Given the description of an element on the screen output the (x, y) to click on. 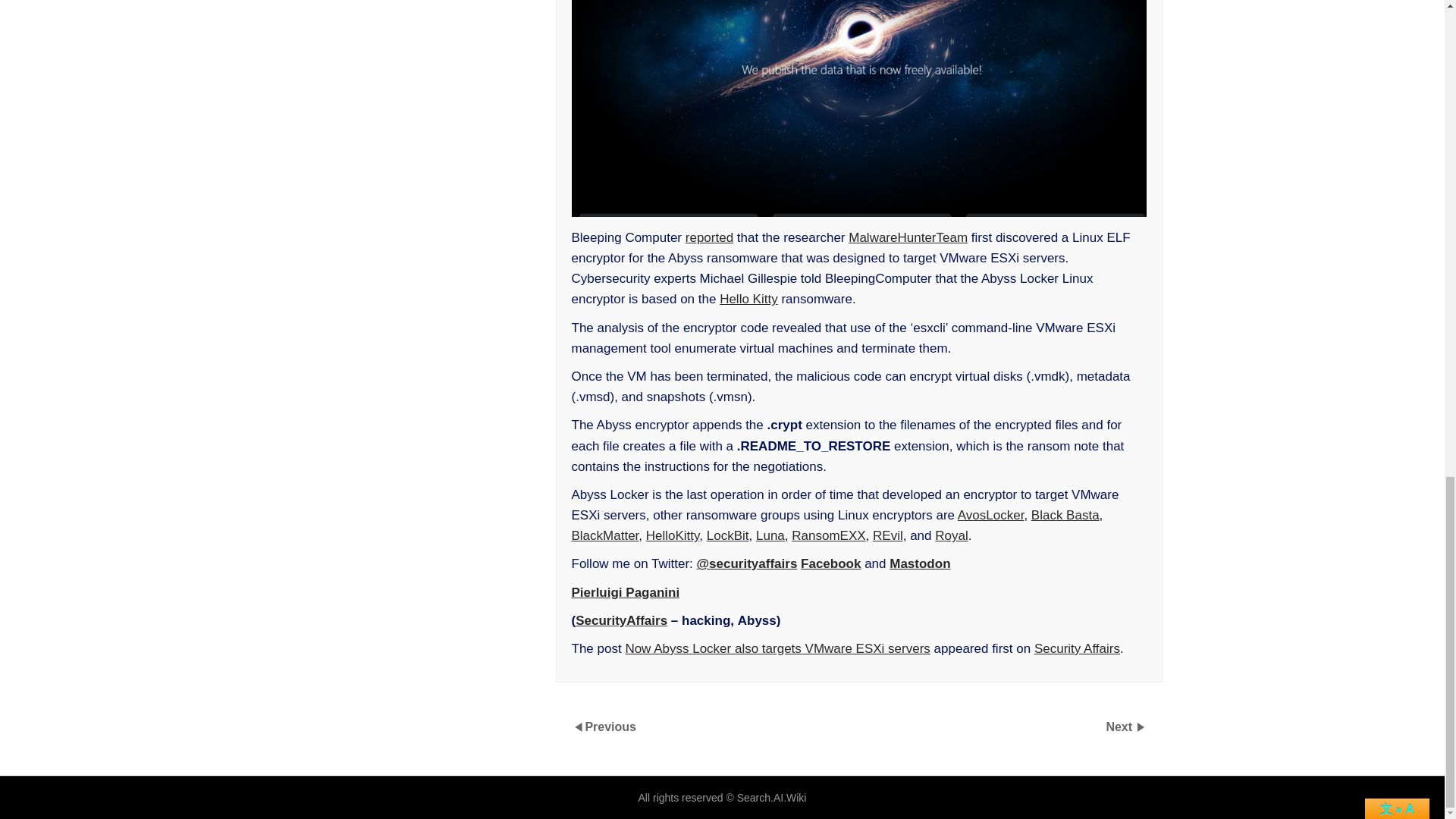
Luna (769, 535)
RansomEXX (828, 535)
Hello Kitty (748, 298)
LockBit (727, 535)
REvil (887, 535)
AvosLocker (991, 514)
HelloKitty (673, 535)
BlackMatter (605, 535)
Facebook (830, 563)
Black Basta (1064, 514)
Royal (951, 535)
MalwareHunterTeam (908, 237)
reported (709, 237)
